Given the description of an element on the screen output the (x, y) to click on. 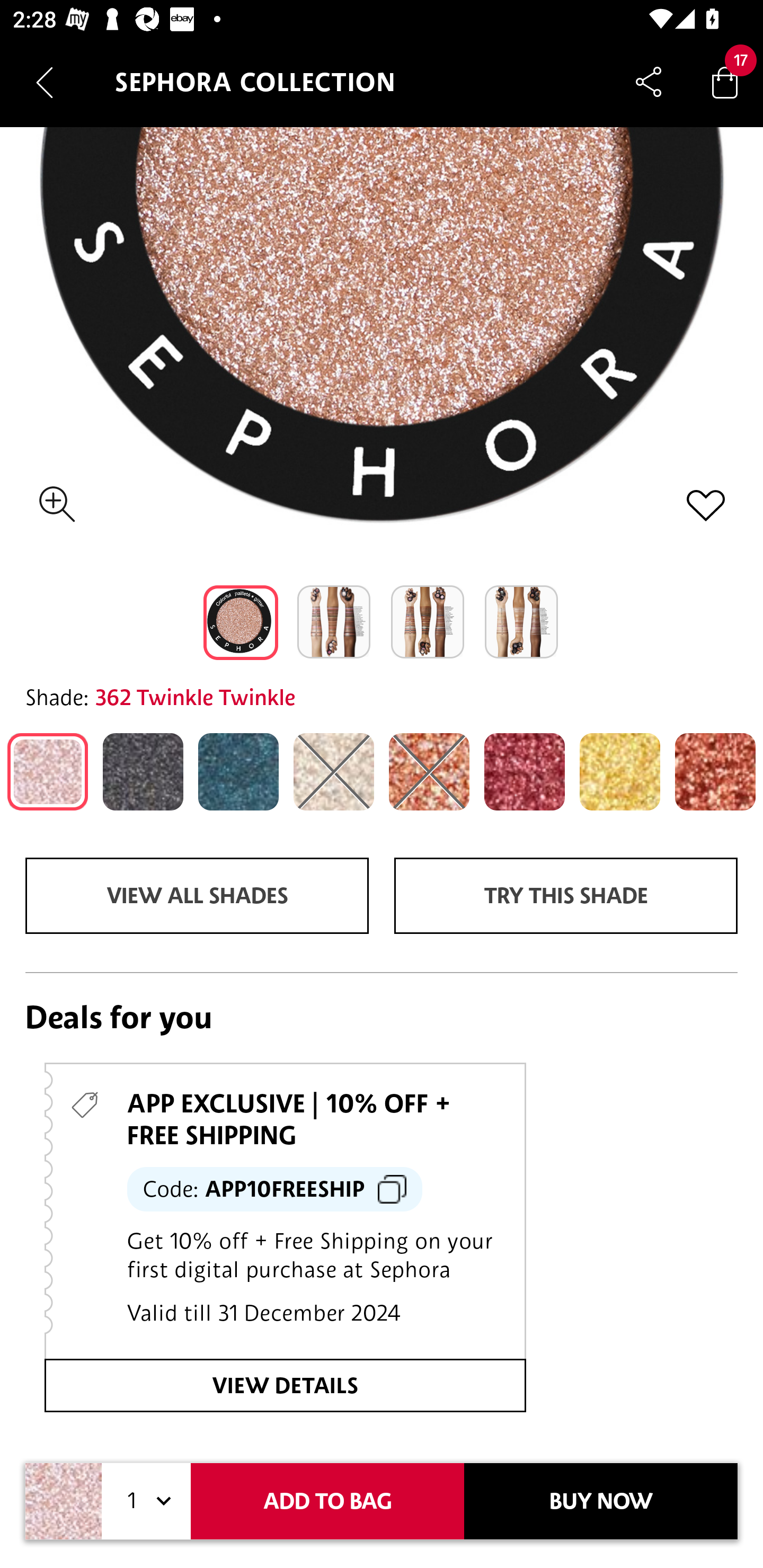
Navigate up (44, 82)
Share (648, 81)
Bag (724, 81)
VIEW ALL SHADES (196, 895)
TRY THIS SHADE (565, 895)
VIEW DETAILS (285, 1385)
1 (145, 1500)
ADD TO BAG (326, 1500)
BUY NOW (600, 1500)
